Given the description of an element on the screen output the (x, y) to click on. 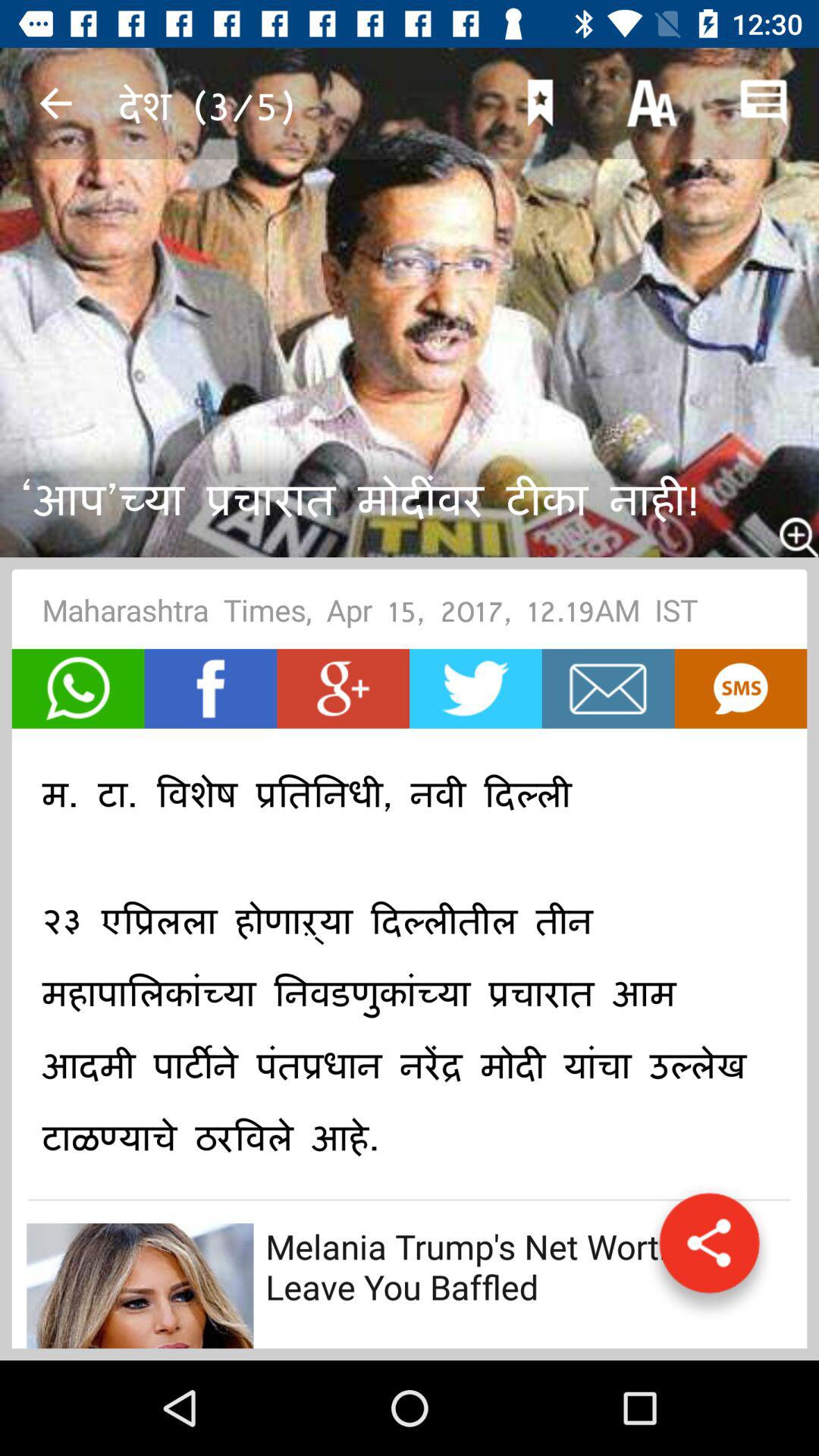
open categories (709, 1250)
